Given the description of an element on the screen output the (x, y) to click on. 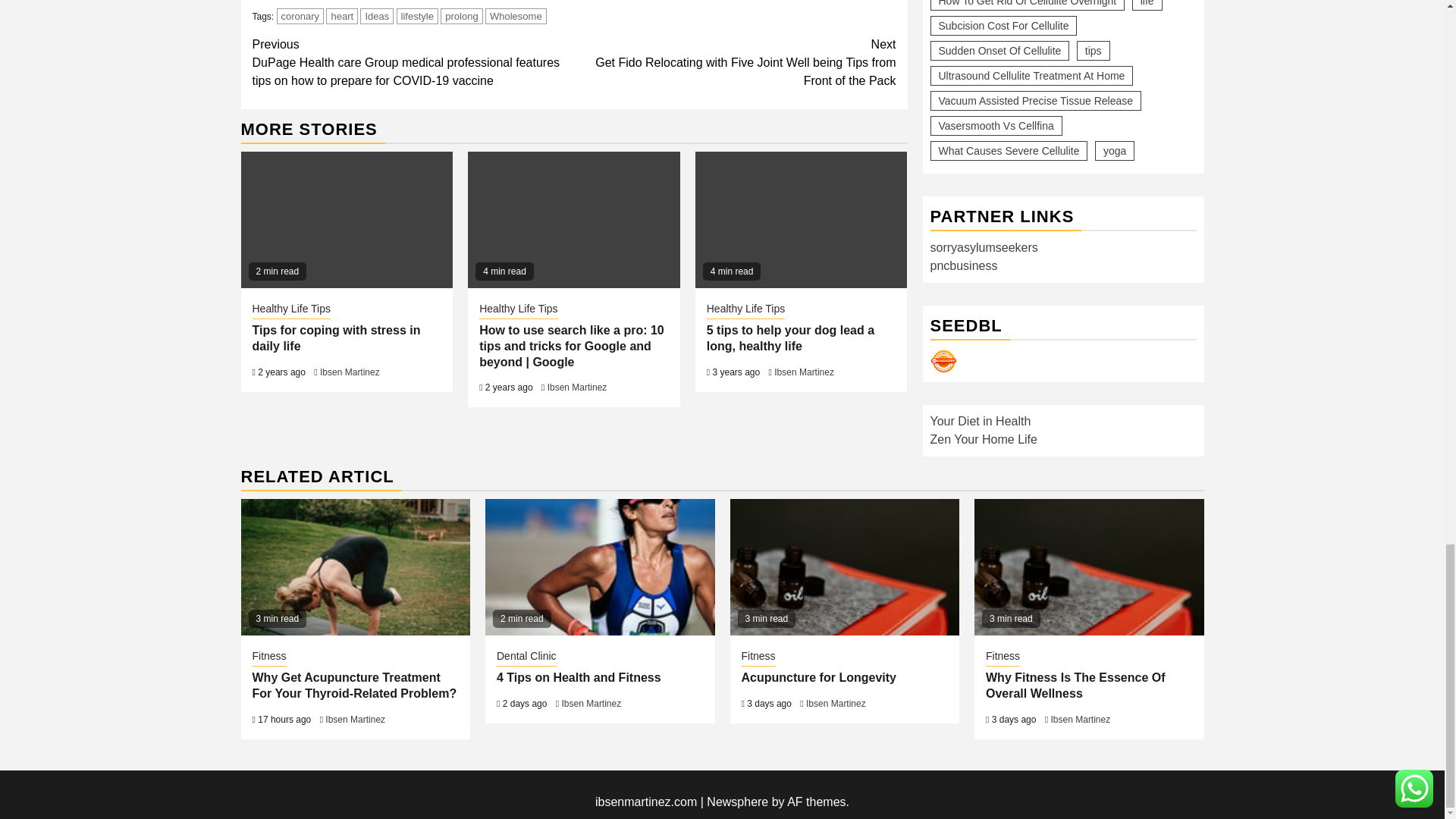
Seedbacklink (943, 361)
coronary (300, 16)
lifestyle (417, 16)
Ideas (376, 16)
Wholesome (515, 16)
heart (342, 16)
prolong (461, 16)
